Given the description of an element on the screen output the (x, y) to click on. 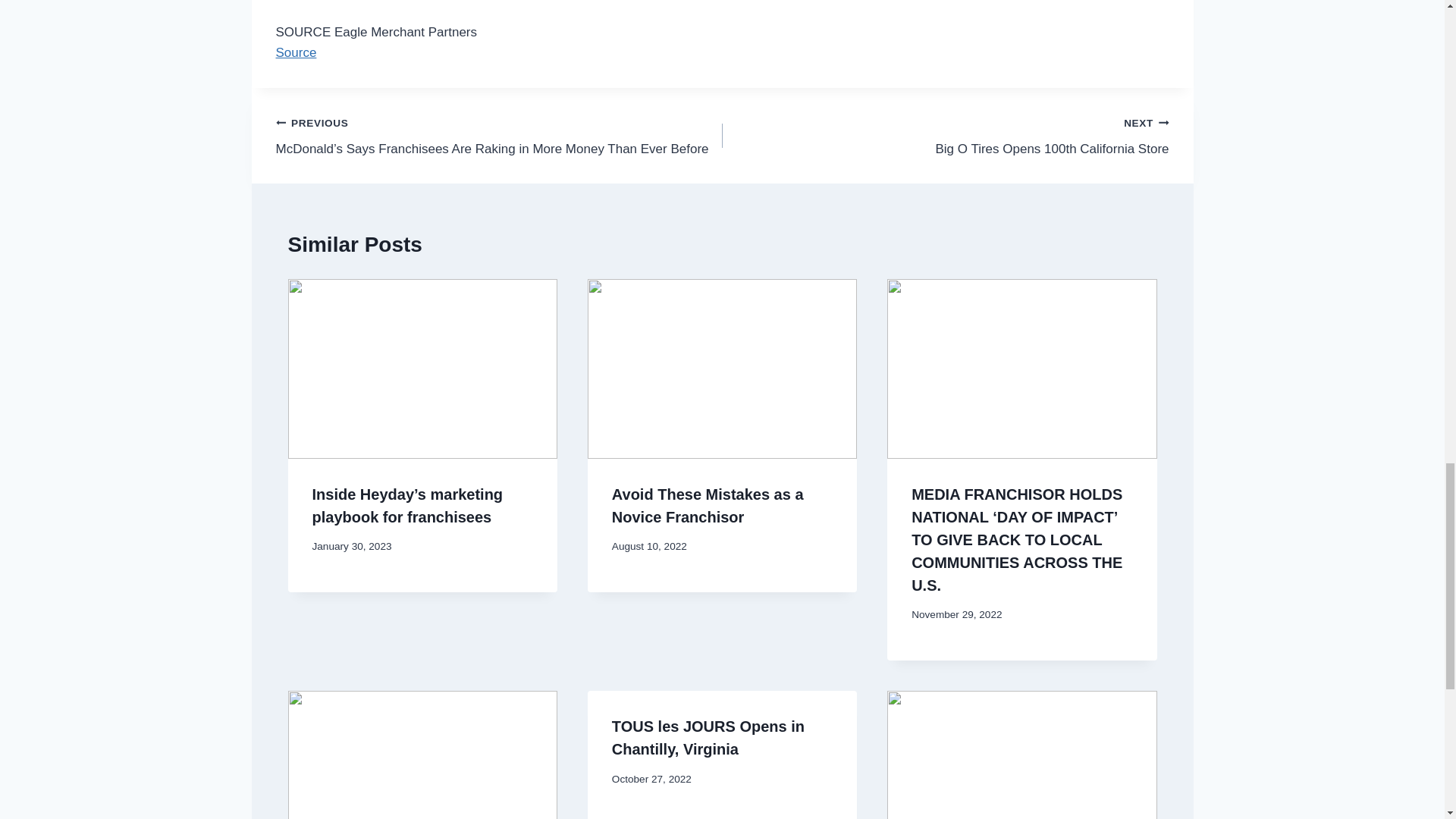
TOUS les JOURS Opens in Chantilly, Virginia (945, 135)
Source (708, 737)
Avoid These Mistakes as a Novice Franchisor  (296, 52)
